Given the description of an element on the screen output the (x, y) to click on. 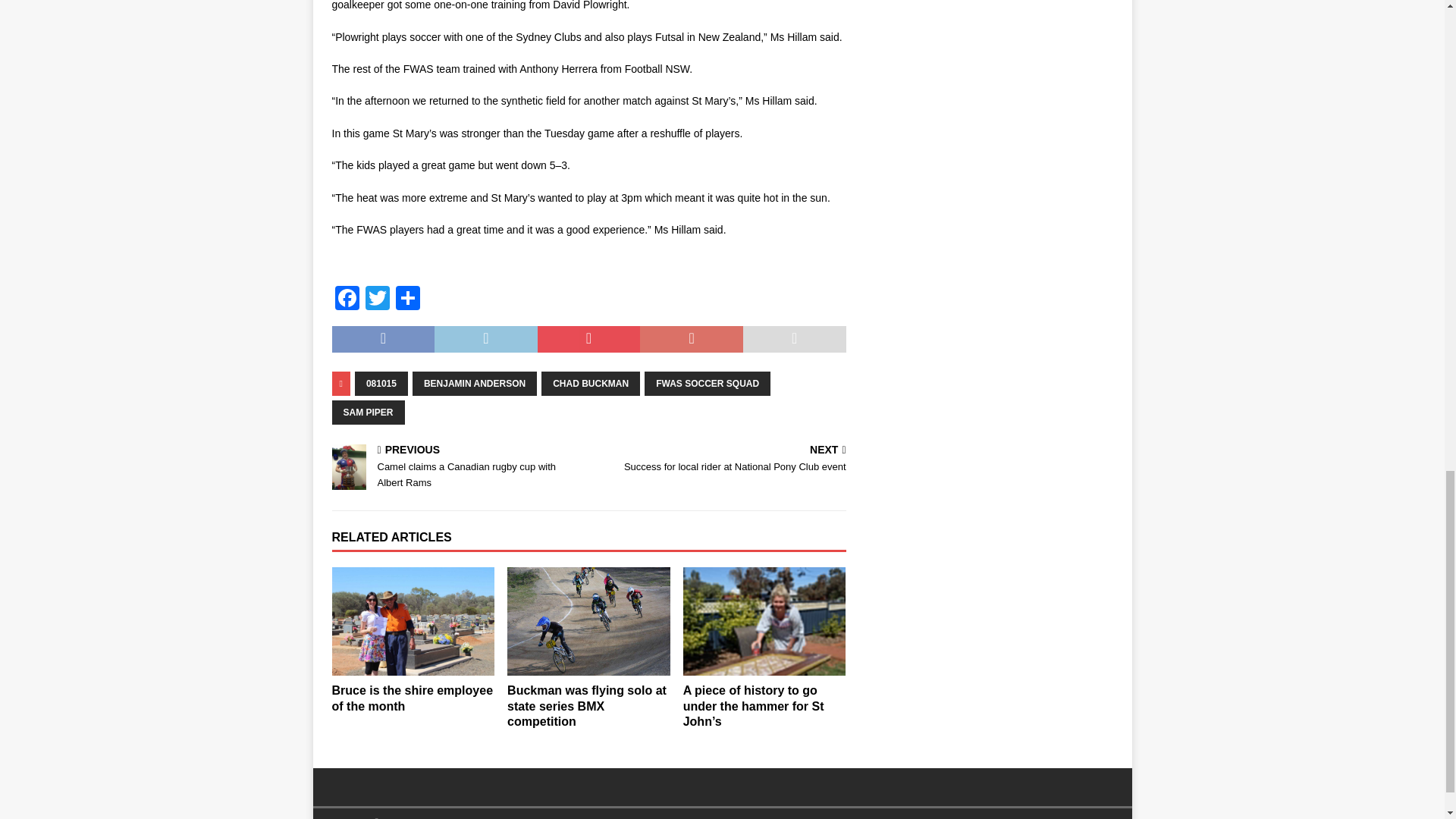
BENJAMIN ANDERSON (474, 383)
Bruce is the shire employee of the month (412, 697)
CHAD BUCKMAN (590, 383)
FWAS SOCCER SQUAD (707, 383)
Facebook (346, 299)
081015 (381, 383)
Facebook (346, 299)
Twitter (377, 299)
Bruce is the shire employee of the month (413, 621)
Share (408, 299)
Twitter (377, 299)
